Given the description of an element on the screen output the (x, y) to click on. 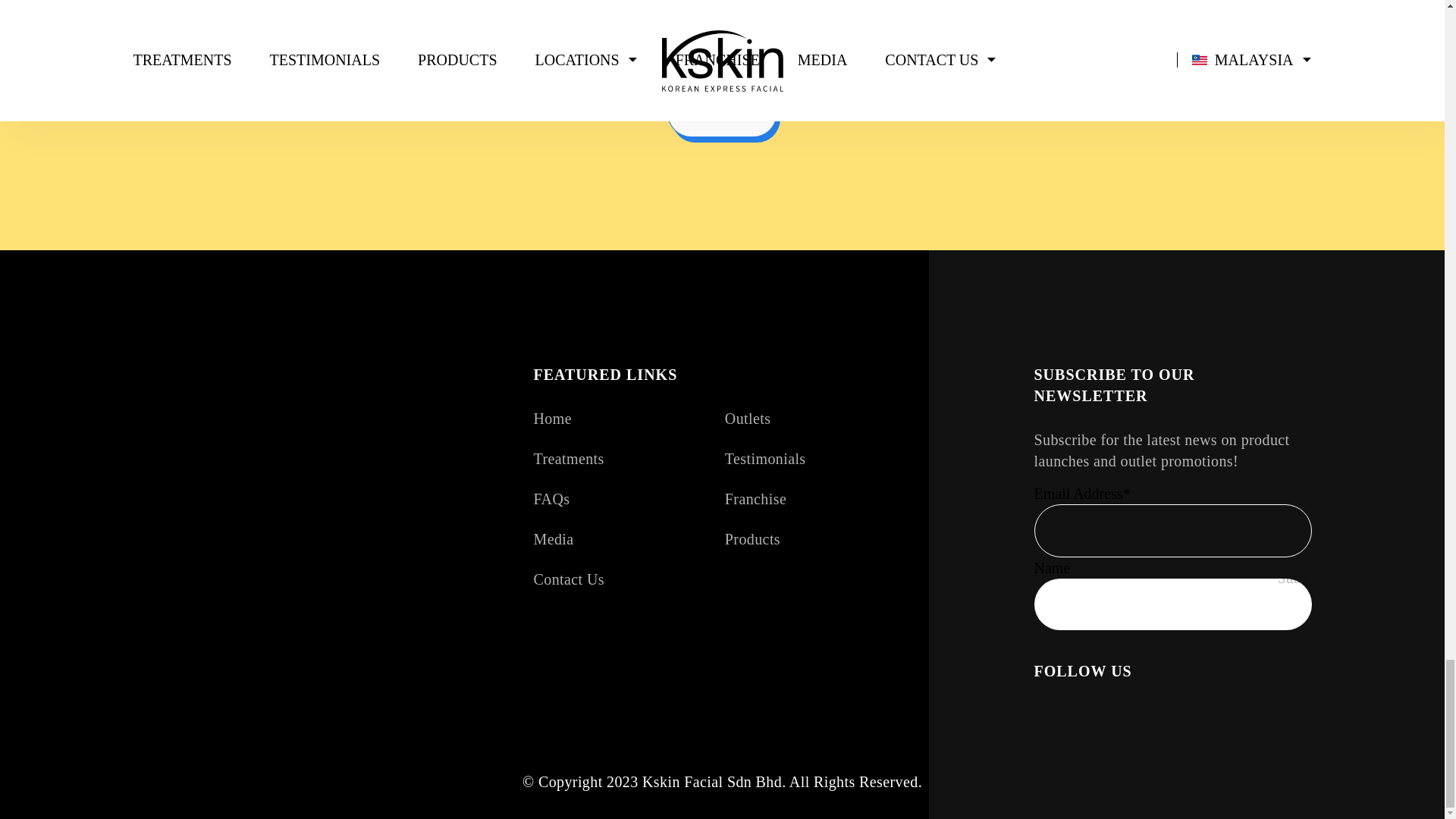
Subscribe (1291, 577)
FAQs (552, 498)
Franchise (755, 498)
Submit (722, 112)
Home (553, 418)
Treatments (569, 458)
Submit (722, 112)
Testimonials (765, 458)
Outlets (748, 418)
Media (553, 538)
